Given the description of an element on the screen output the (x, y) to click on. 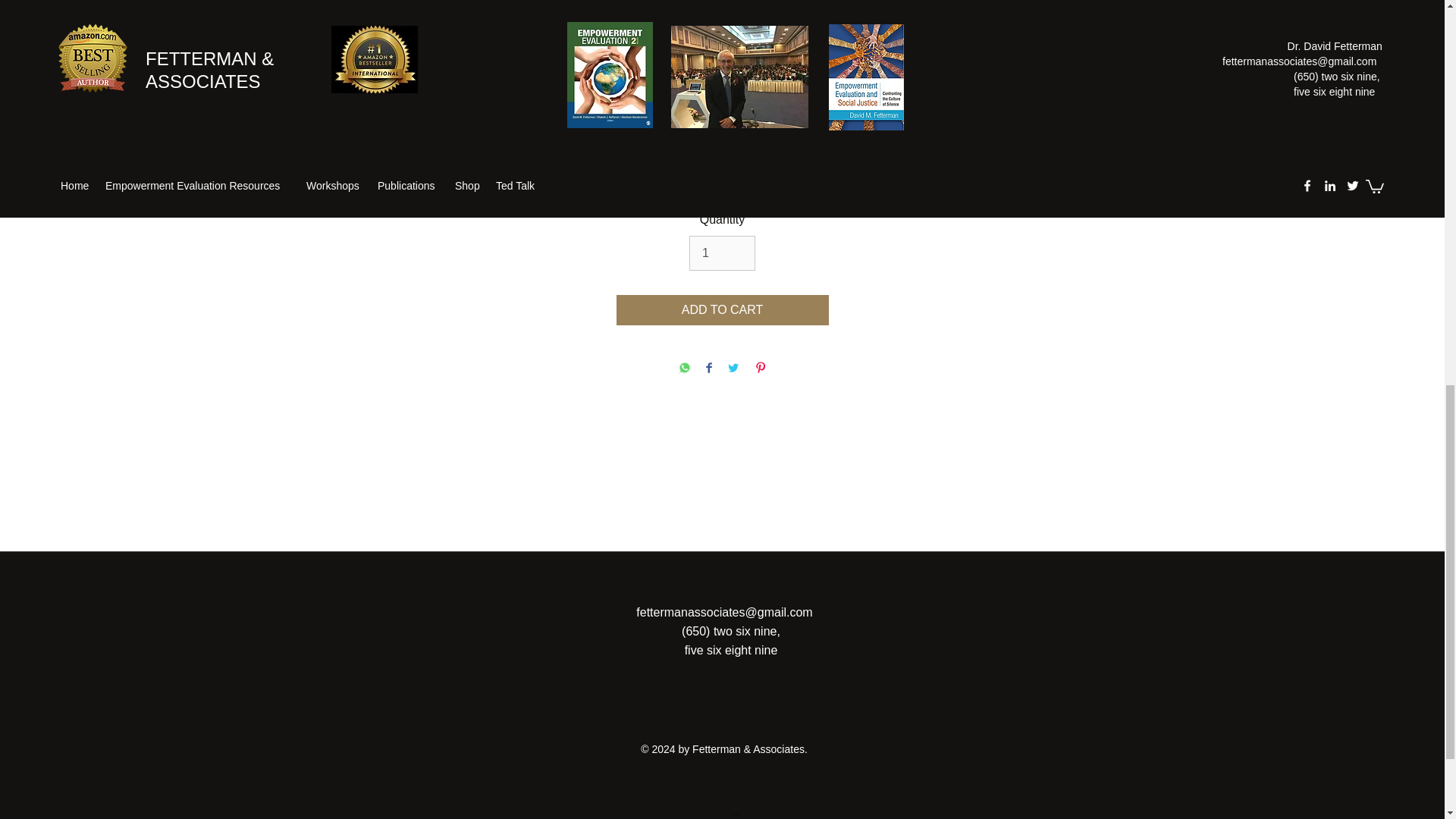
1 (721, 253)
